Given the description of an element on the screen output the (x, y) to click on. 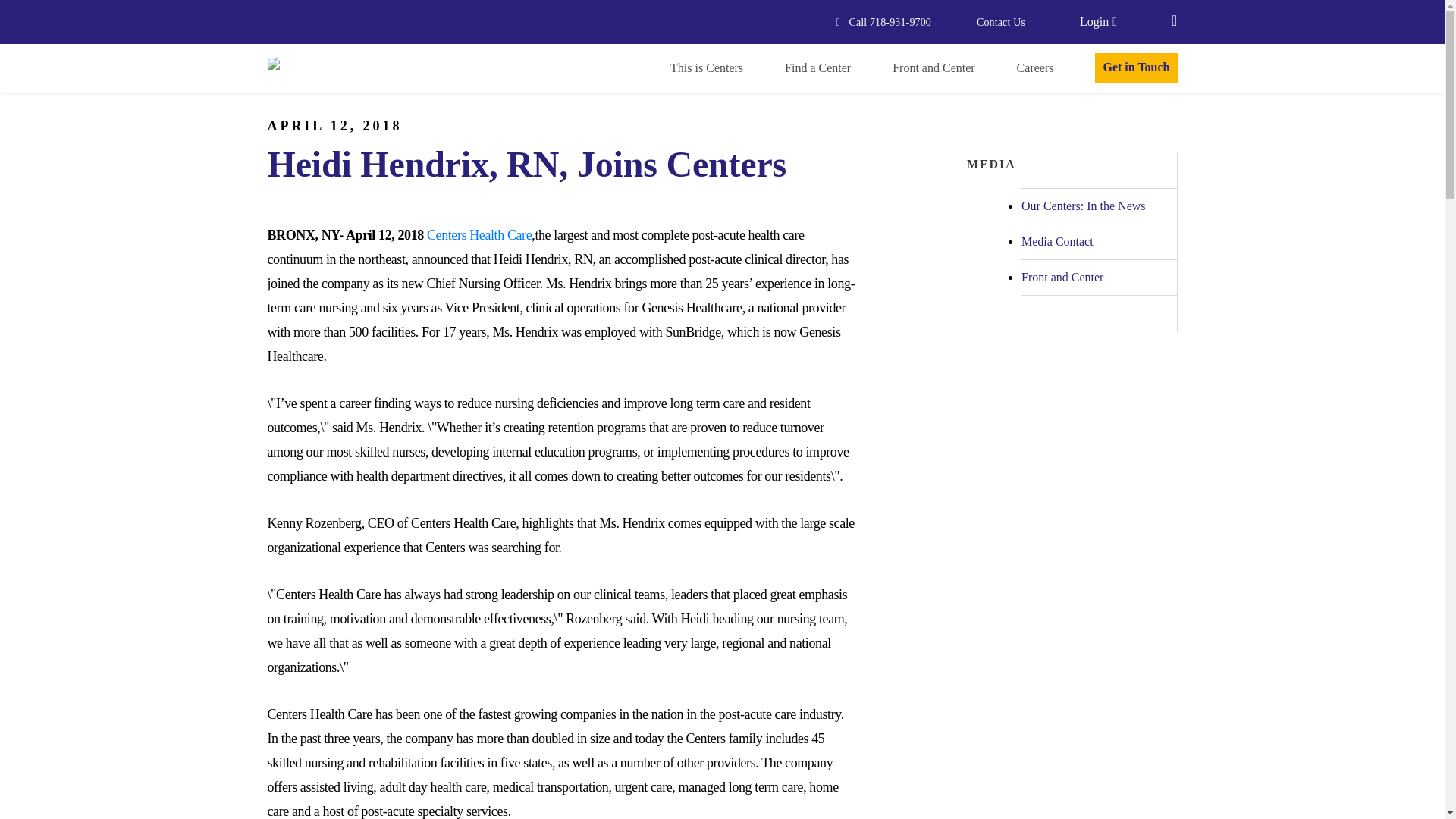
Login (1097, 22)
Careers (1035, 68)
Call 718-931-9700 (883, 22)
Centers Health Care (478, 234)
Front and Center (933, 68)
This is Centers (705, 68)
Contact Us (1000, 22)
Find a Center (817, 68)
Get in Touch (1135, 67)
